Given the description of an element on the screen output the (x, y) to click on. 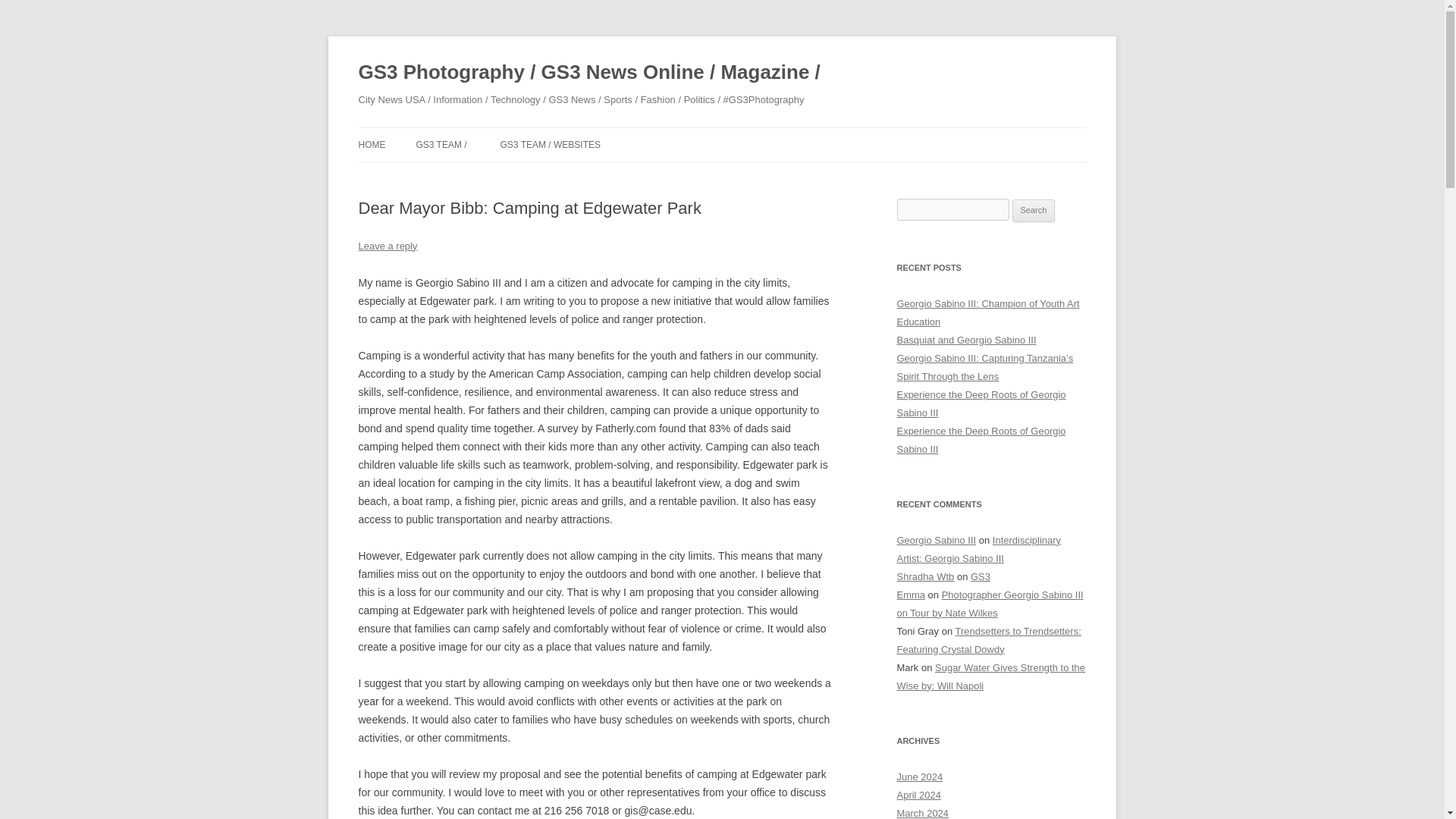
Search (1033, 210)
Trendsetters to Trendsetters: Featuring Crystal Dowdy (988, 640)
Search (1033, 210)
Georgio Sabino III (935, 540)
Sugar Water Gives Strength to the Wise by: Will Napoli (990, 676)
Emma (910, 594)
Interdisciplinary Artist: Georgio Sabino III (978, 549)
March 2024 (922, 813)
Photographer Georgio Sabino III on Tour by Nate Wilkes (989, 603)
April 2024 (918, 794)
GS3 (980, 576)
Basquiat and Georgio Sabino III (965, 339)
Shradha Wtb (924, 576)
Experience the Deep Roots of Georgio Sabino III (980, 403)
